Given the description of an element on the screen output the (x, y) to click on. 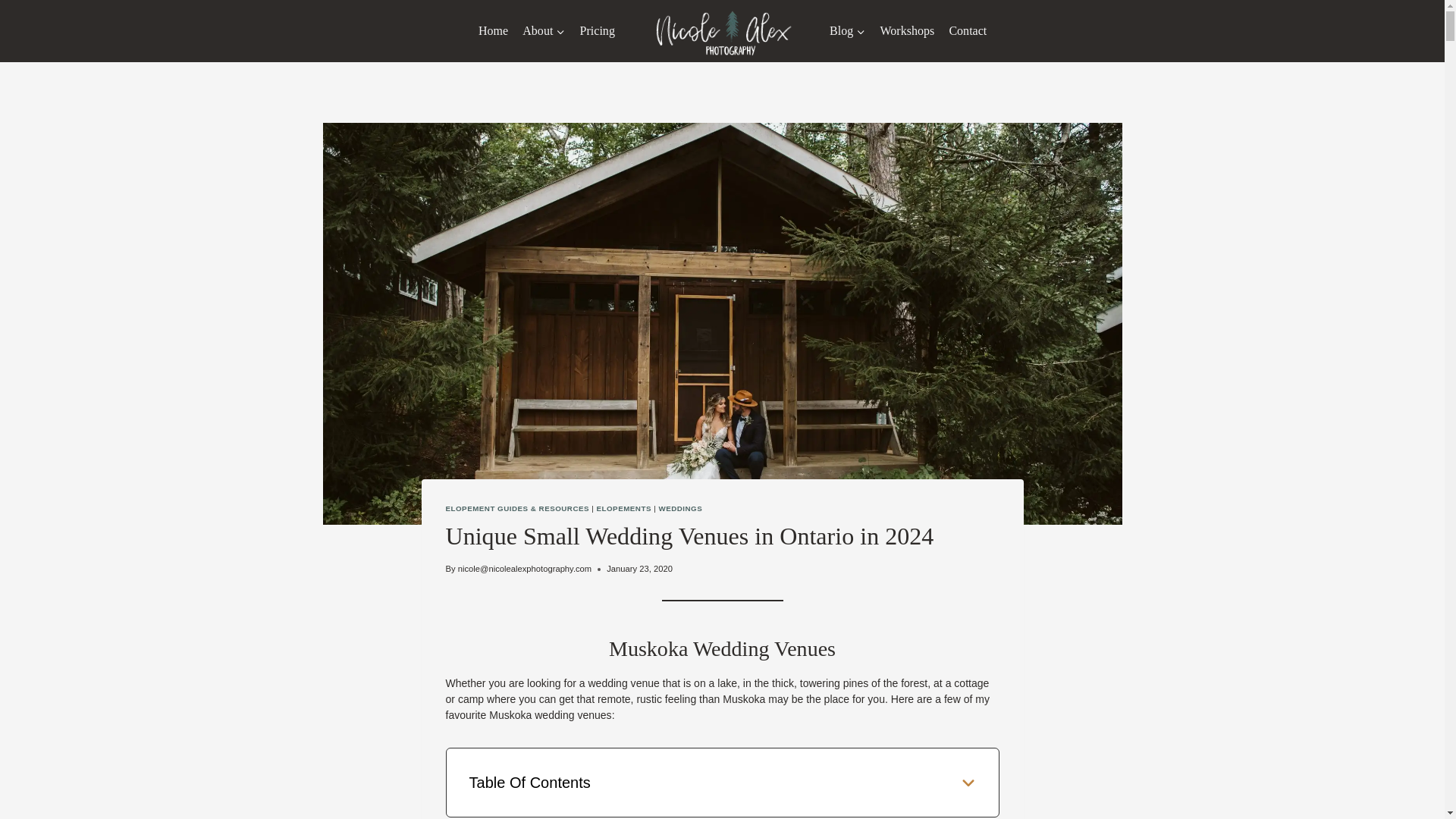
Workshops (907, 31)
Blog (847, 31)
Contact (968, 31)
ELOPEMENTS (623, 508)
Pricing (597, 31)
About (543, 31)
Home (492, 31)
WEDDINGS (679, 508)
